Given the description of an element on the screen output the (x, y) to click on. 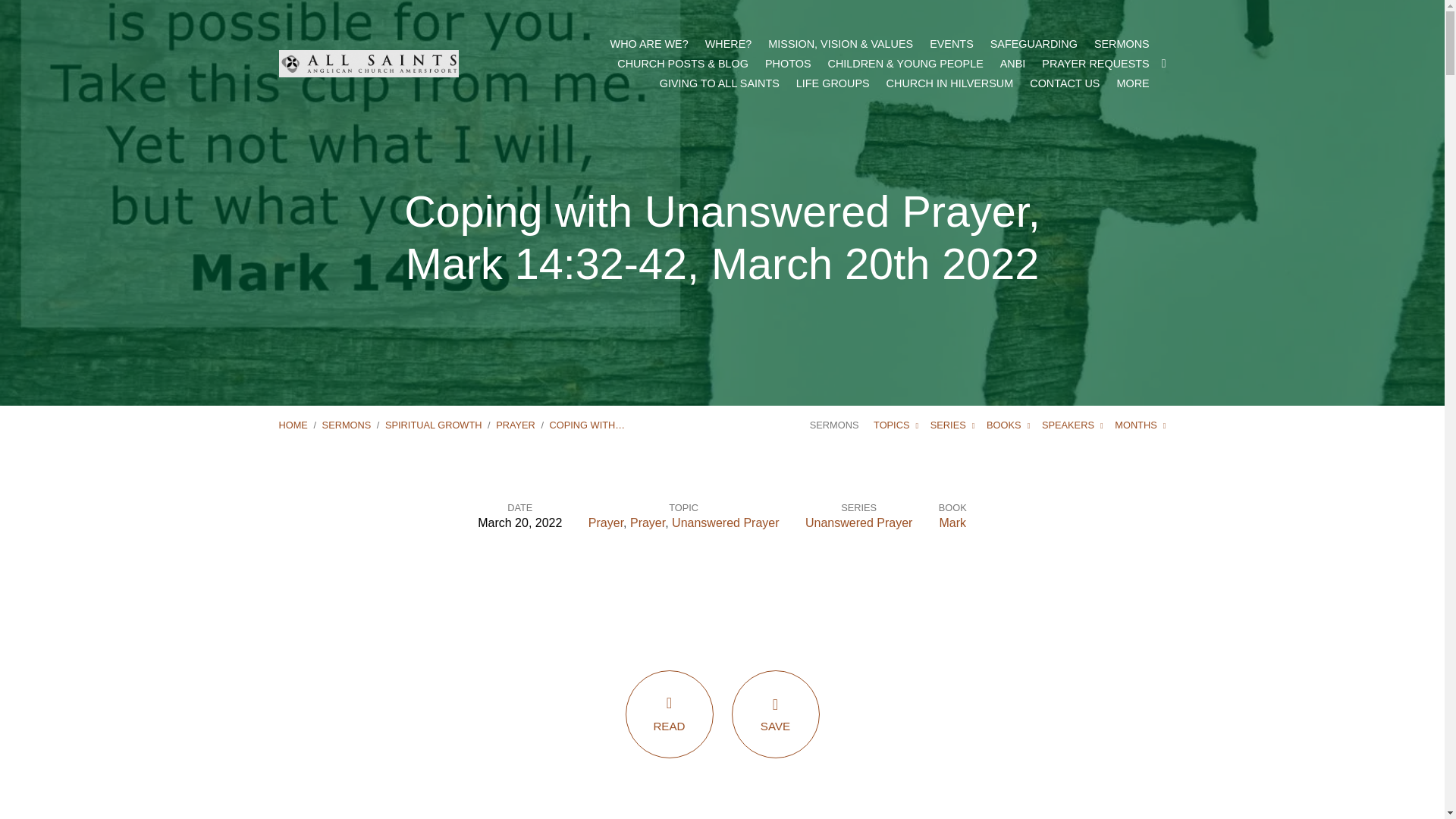
GIVING TO ALL SAINTS (718, 82)
ANBI (1013, 63)
PHOTOS (787, 63)
SERMONS (1122, 43)
PRAYER REQUESTS (1095, 63)
LIFE GROUPS (832, 82)
CHURCH IN HILVERSUM (949, 82)
EVENTS (952, 43)
WHERE? (728, 43)
WHO ARE WE? (649, 43)
